Given the description of an element on the screen output the (x, y) to click on. 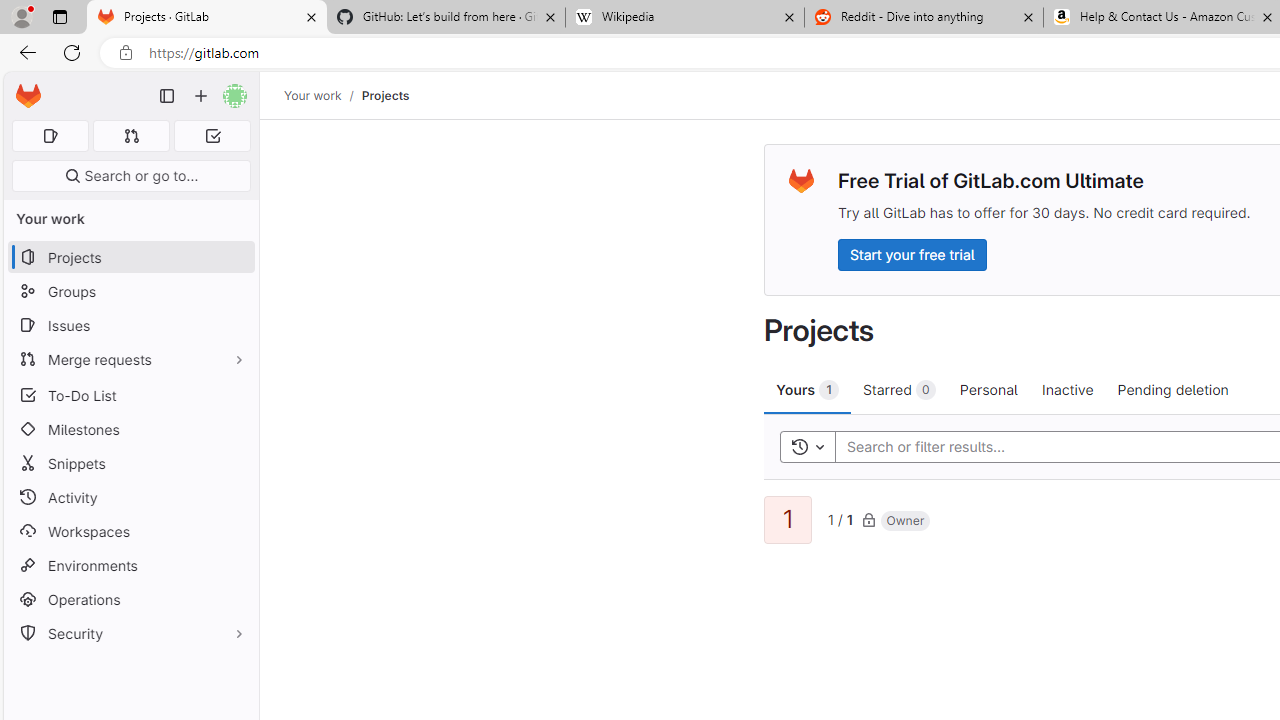
Assigned issues 0 (50, 136)
Starred 0 (899, 389)
Toggle history (807, 445)
Inactive (1067, 389)
Merge requests (130, 358)
Snippets (130, 463)
Your work/ (323, 95)
To-Do list 0 (212, 136)
Yours 1 (808, 389)
